Given the description of an element on the screen output the (x, y) to click on. 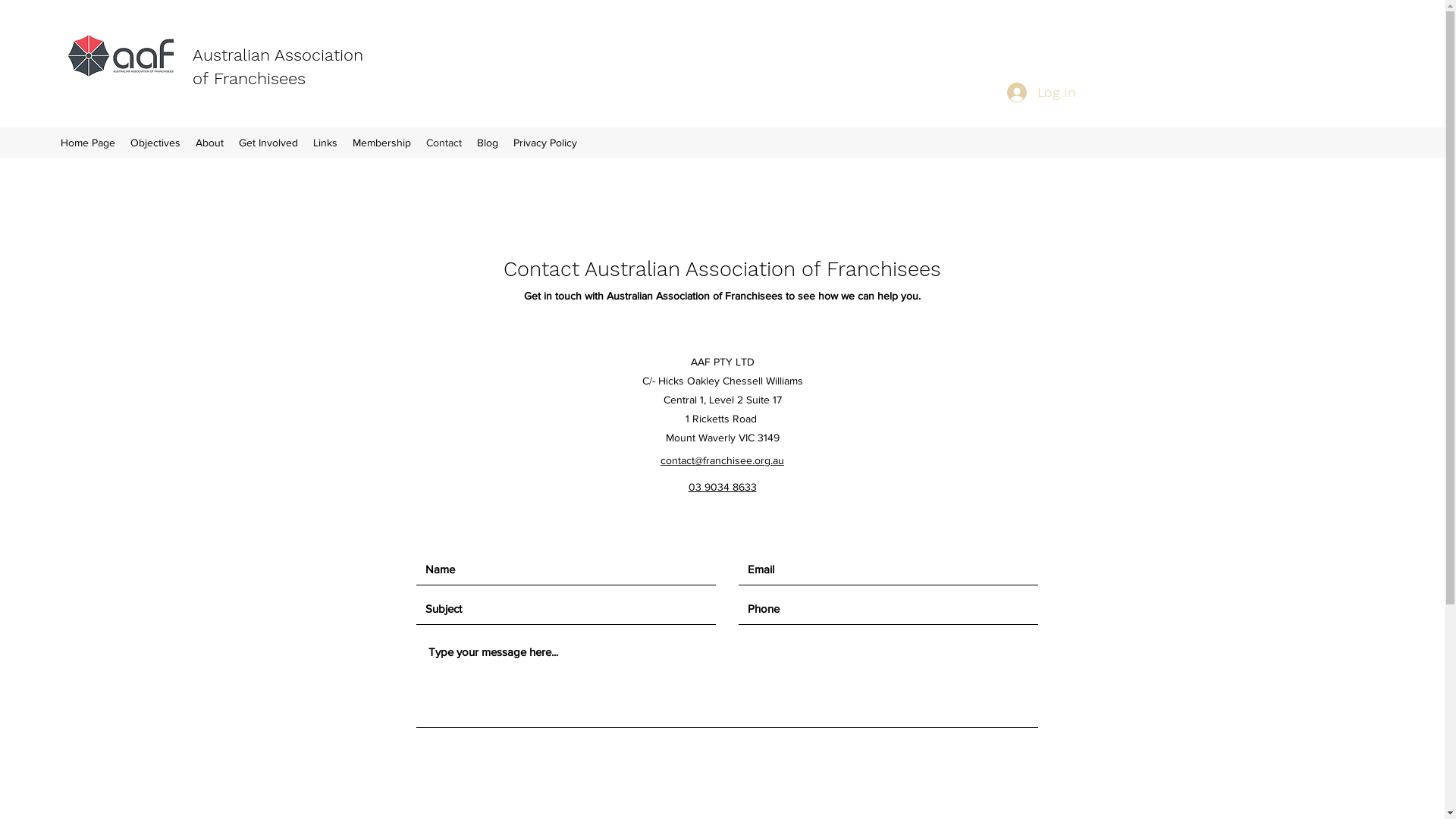
Contact Element type: text (443, 142)
03 9034 8633 Element type: text (722, 486)
Get Involved Element type: text (268, 142)
Objectives Element type: text (155, 142)
Privacy Policy Element type: text (544, 142)
Links Element type: text (325, 142)
Franchisees Element type: text (259, 78)
Blog Element type: text (487, 142)
Australian Association of  Element type: text (277, 66)
Membership Element type: text (381, 142)
Log In Element type: text (1041, 92)
About Element type: text (209, 142)
contact@franchisee.org.au Element type: text (722, 460)
Home Page Element type: text (87, 142)
